Given the description of an element on the screen output the (x, y) to click on. 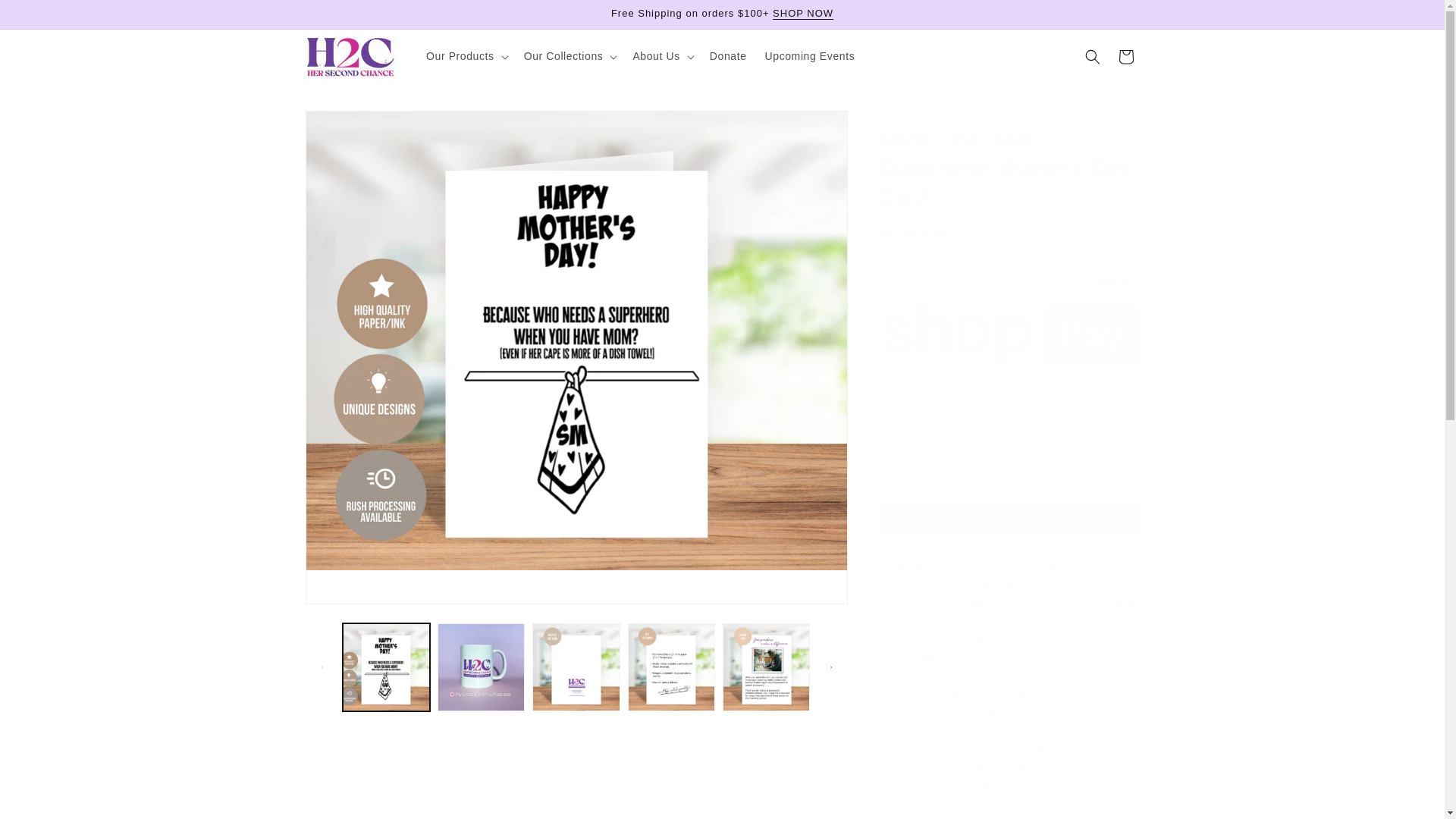
Skip to content (45, 16)
1 (931, 434)
